Given the description of an element on the screen output the (x, y) to click on. 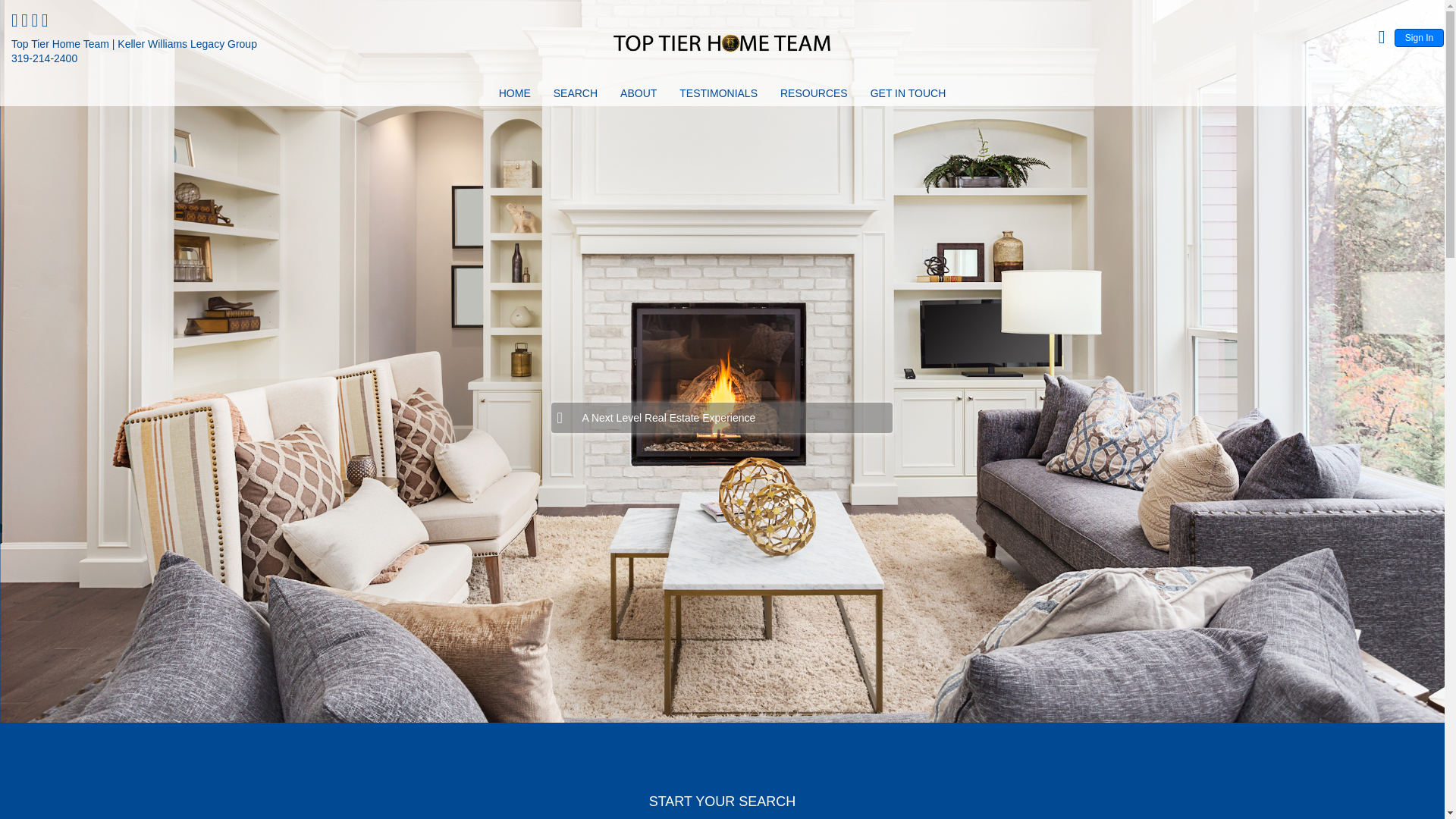
RESOURCES (813, 95)
TESTIMONIALS (718, 95)
319-214-2400 (44, 58)
ABOUT (638, 95)
Sign In (1419, 37)
GET IN TOUCH (908, 95)
HOME (514, 95)
SEARCH (575, 95)
